Given the description of an element on the screen output the (x, y) to click on. 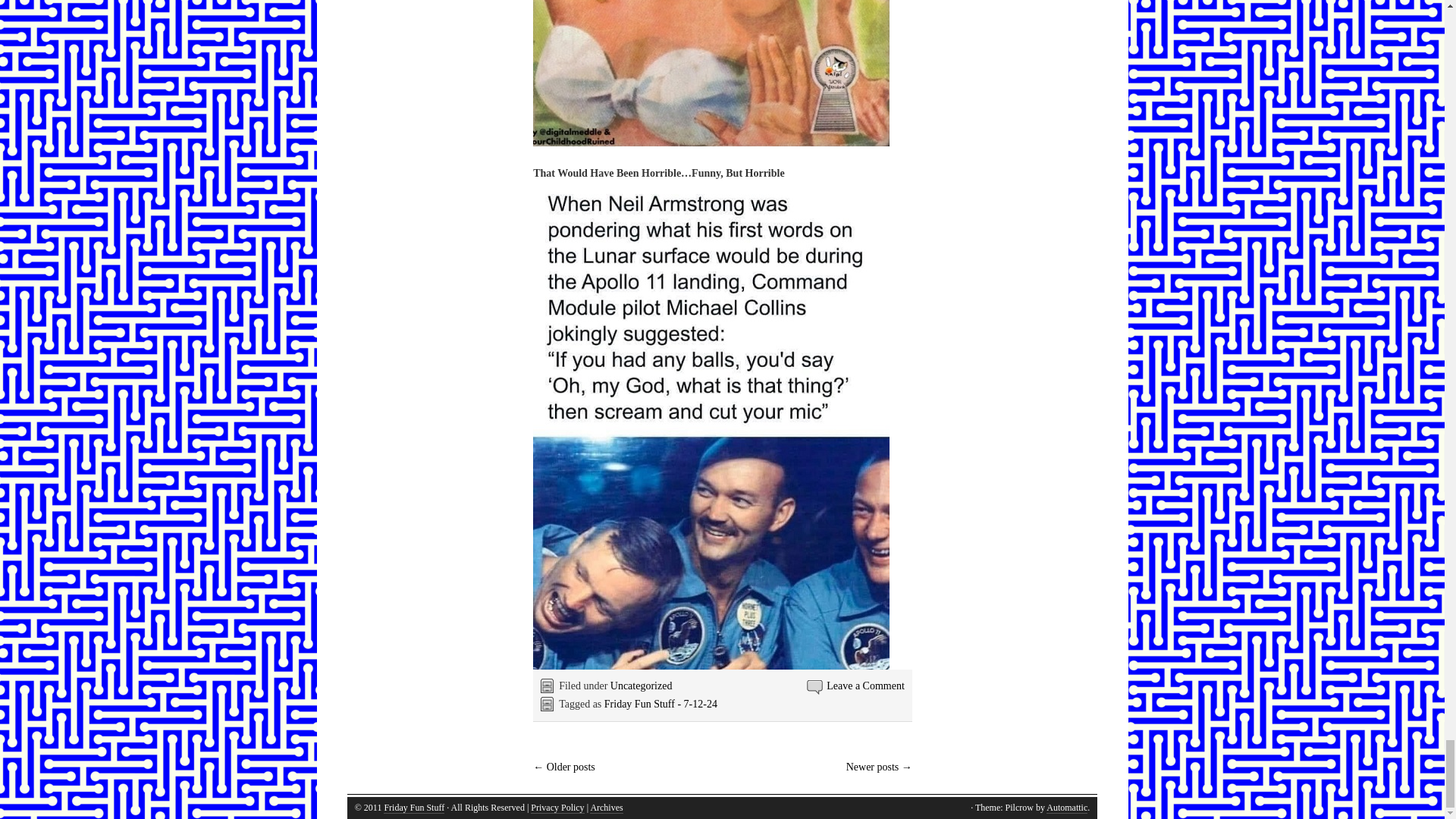
Uncategorized (641, 685)
View all posts in Uncategorized (641, 685)
Friday Fun Stuff - 7-12-24 (660, 704)
Leave a Comment (865, 685)
